Given the description of an element on the screen output the (x, y) to click on. 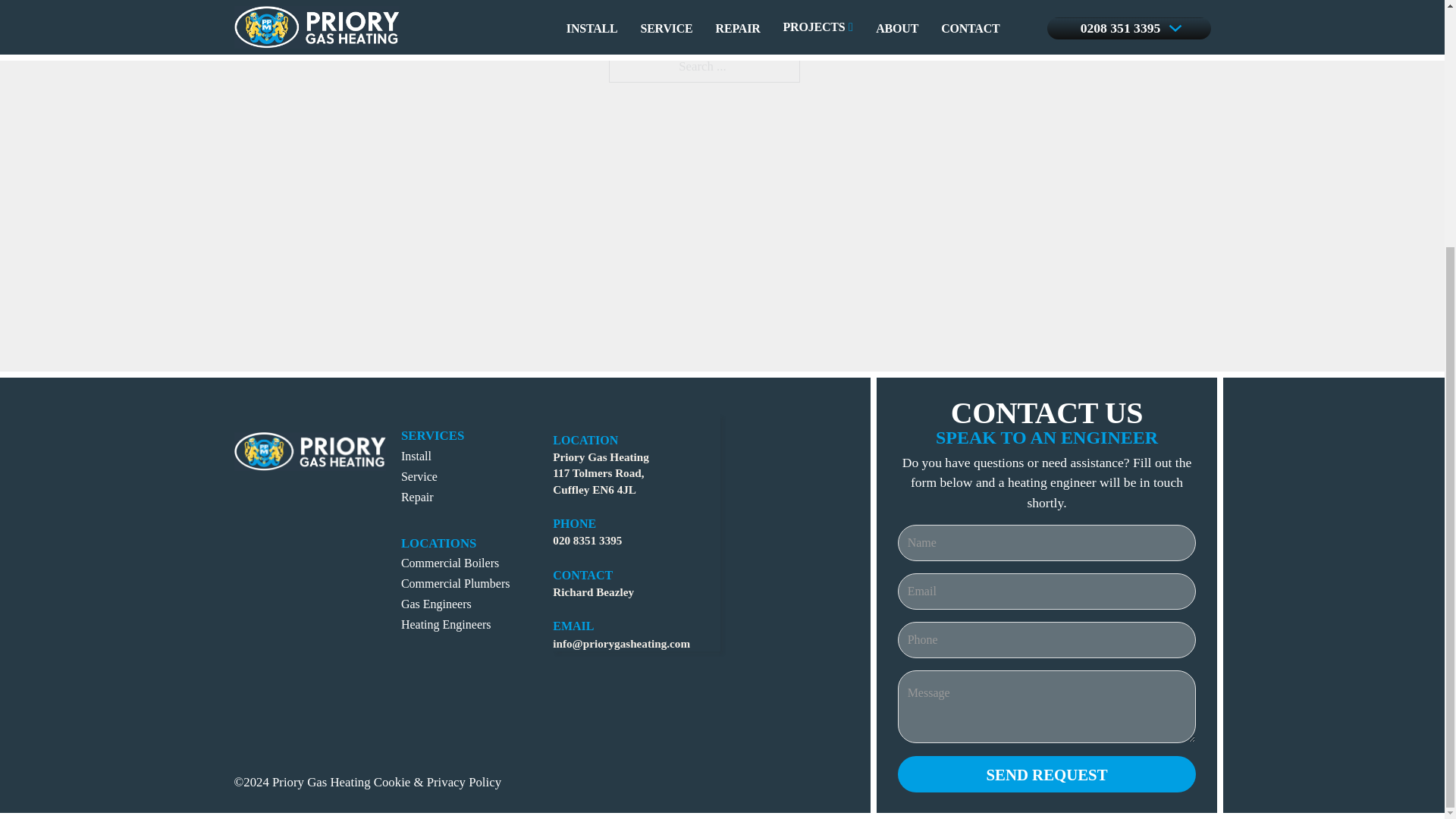
Install (415, 455)
Heating Engineers (446, 624)
Repair (417, 496)
Gas Engineers (436, 603)
Send Request (1047, 773)
Commercial Plumbers (456, 583)
Service (419, 476)
Commercial Boilers (450, 562)
Send Request (1047, 773)
